Given the description of an element on the screen output the (x, y) to click on. 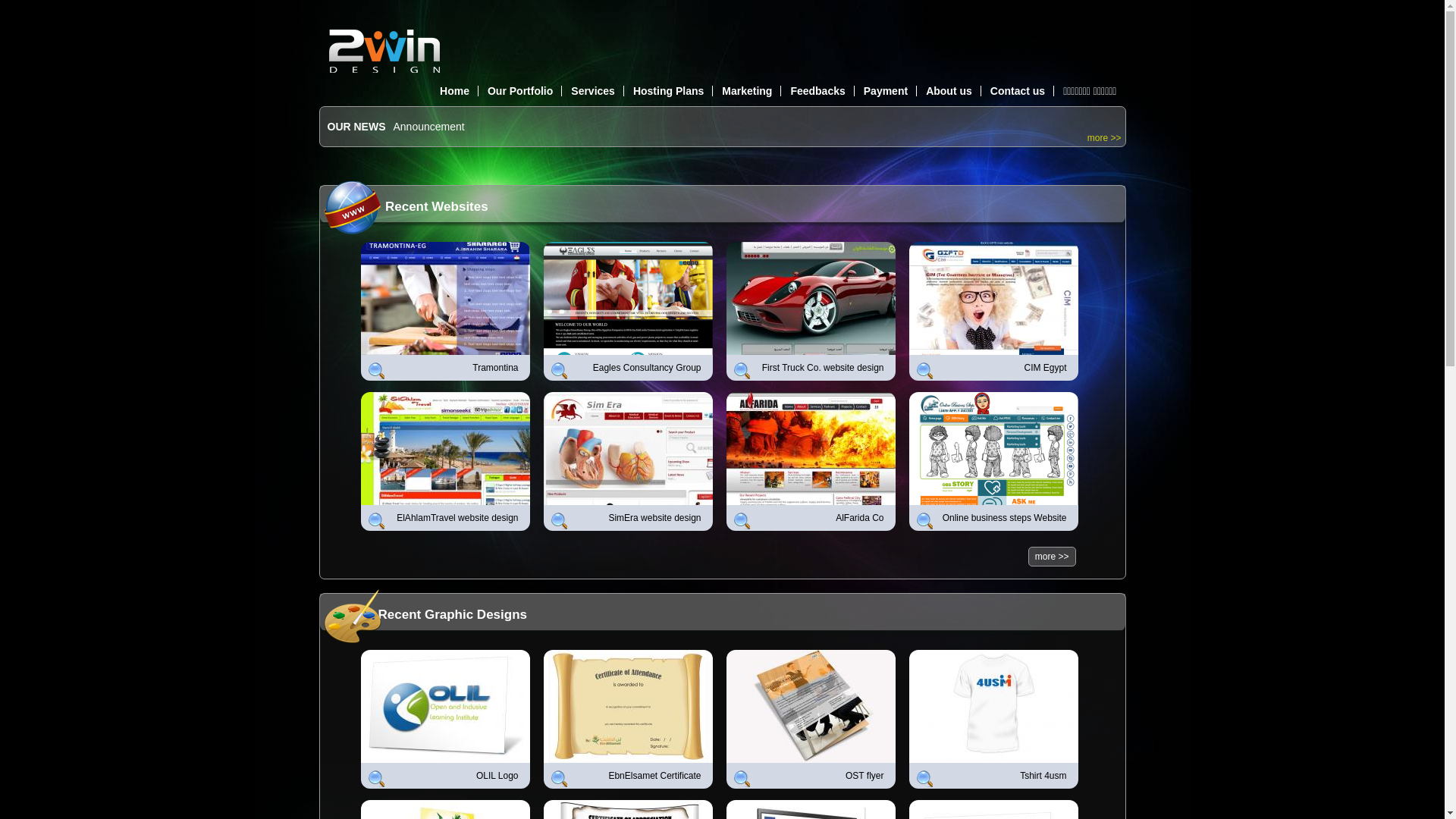
Home Element type: text (454, 90)
About us Element type: text (948, 90)
more >> Element type: text (1104, 137)
OUR NEWS Element type: text (356, 126)
Online business steps Website Element type: text (991, 517)
OST flyer Element type: text (809, 775)
Eagles Consultancy Group Element type: text (625, 367)
Payment Element type: text (885, 90)
SimEra website design Element type: text (625, 517)
ElAhlamTravel website design Element type: text (443, 517)
Hosting Plans Element type: text (668, 90)
OLIL Logo Element type: text (443, 775)
Marketing Element type: text (746, 90)
Tramontina Element type: text (443, 367)
EbnElsamet Certificate Element type: text (625, 775)
Our Portfolio Element type: text (519, 90)
Contact us Element type: text (1017, 90)
First Truck Co. website design Element type: text (809, 367)
more >> Element type: text (1052, 556)
Services Element type: text (592, 90)
AlFarida Co Element type: text (809, 517)
CIM Egypt Element type: text (991, 367)
Bill Gates - Copied Element type: text (436, 126)
Tshirt 4usm Element type: text (991, 775)
Feedbacks Element type: text (817, 90)
